Given the description of an element on the screen output the (x, y) to click on. 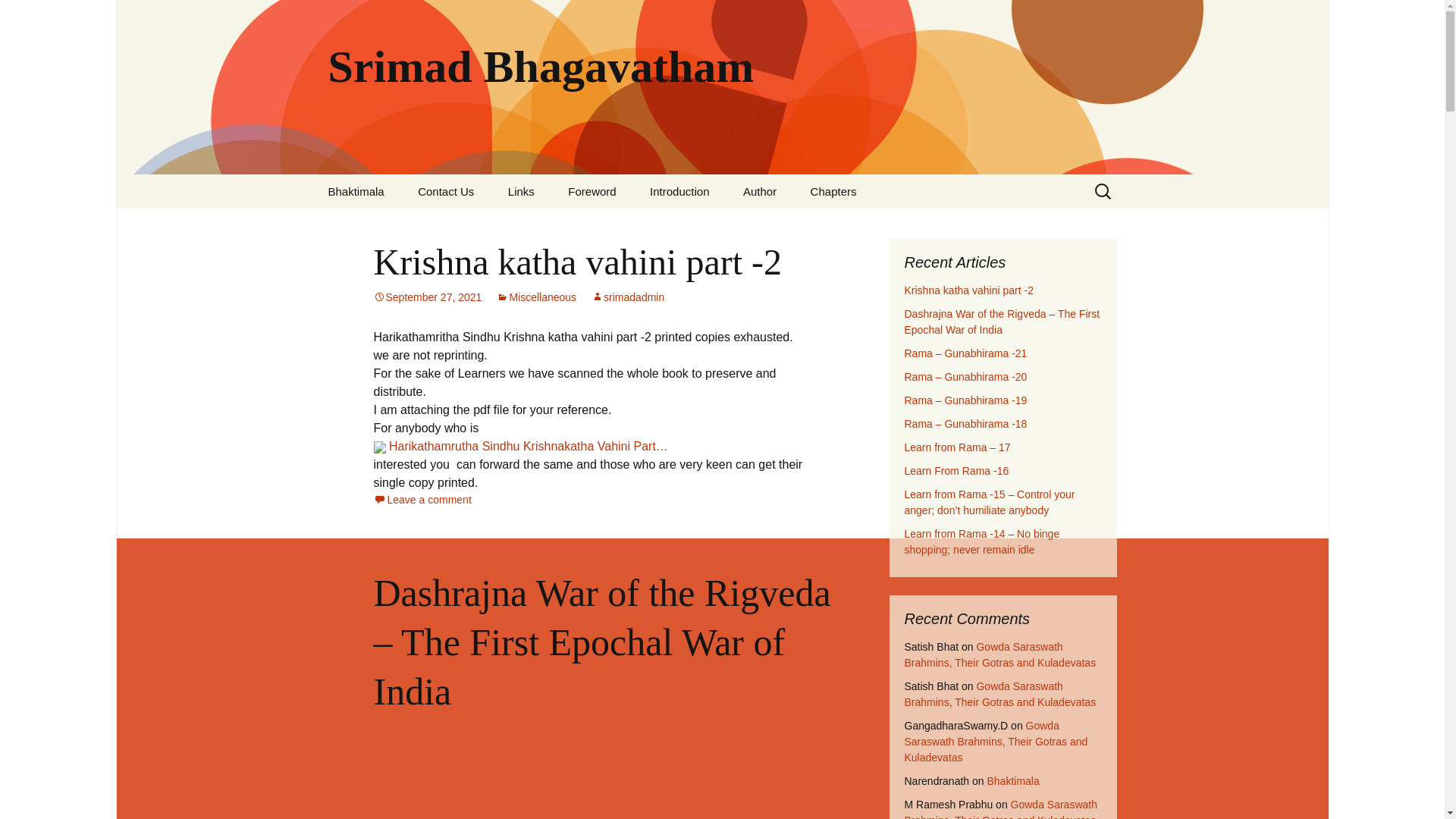
Contact Us (446, 191)
Permalink to Krishna katha vahini part -2 (426, 297)
Chapters (833, 191)
Introduction (678, 191)
Links (521, 191)
View all posts by srimadadmin (627, 297)
Miscellaneous (536, 297)
